Given the description of an element on the screen output the (x, y) to click on. 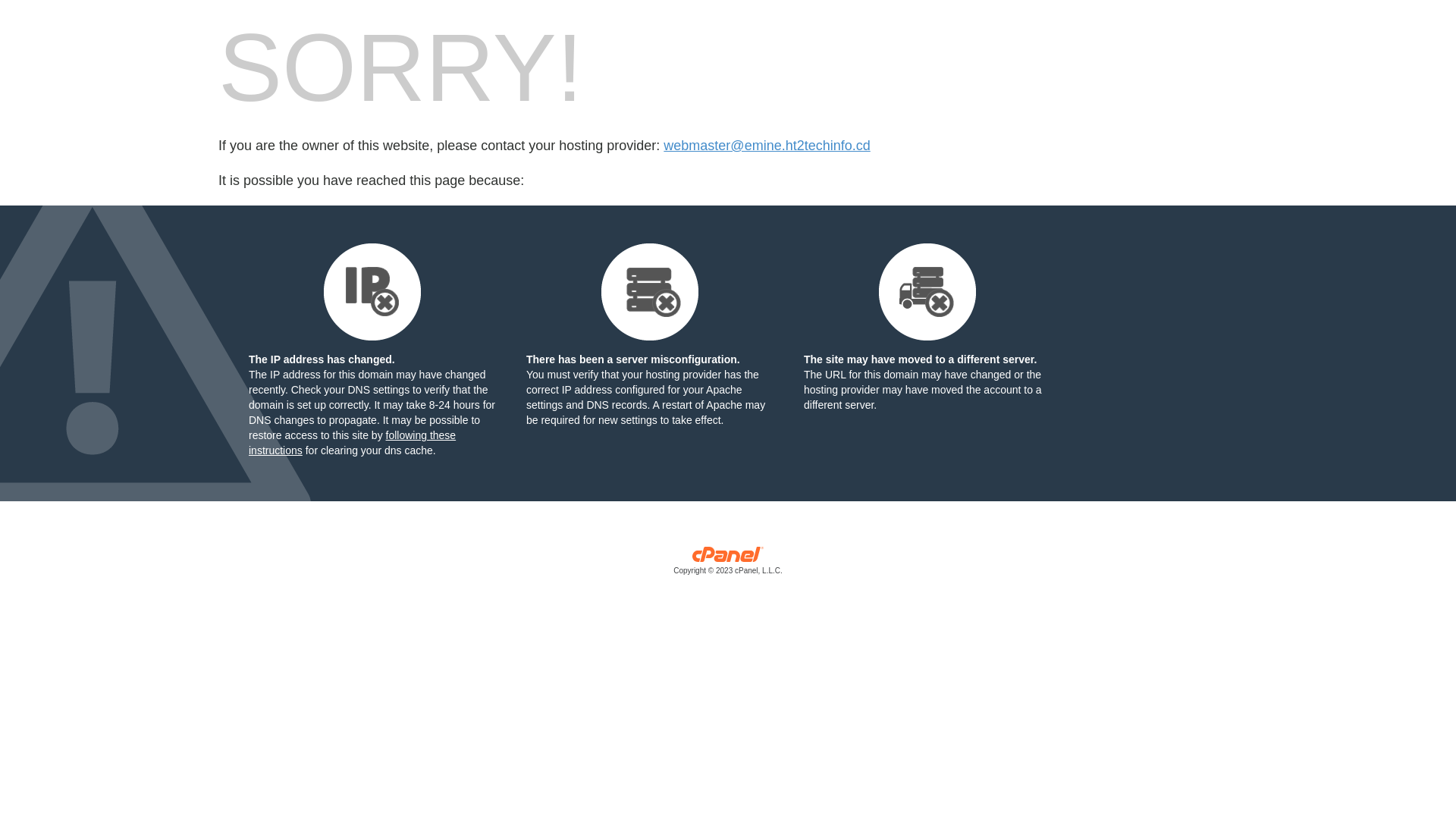
following these instructions Element type: text (351, 442)
webmaster@emine.ht2techinfo.cd Element type: text (766, 145)
